Given the description of an element on the screen output the (x, y) to click on. 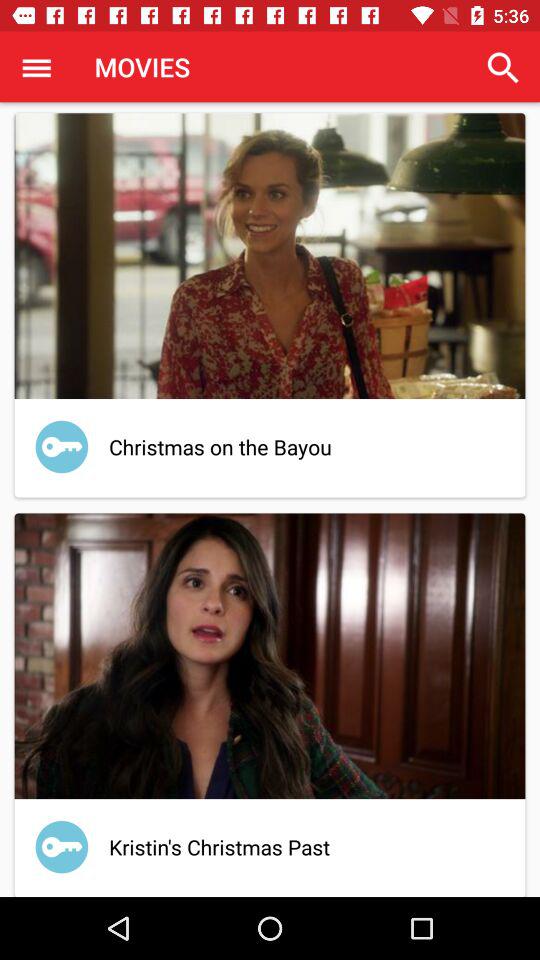
choose item to the right of movies item (503, 67)
